Given the description of an element on the screen output the (x, y) to click on. 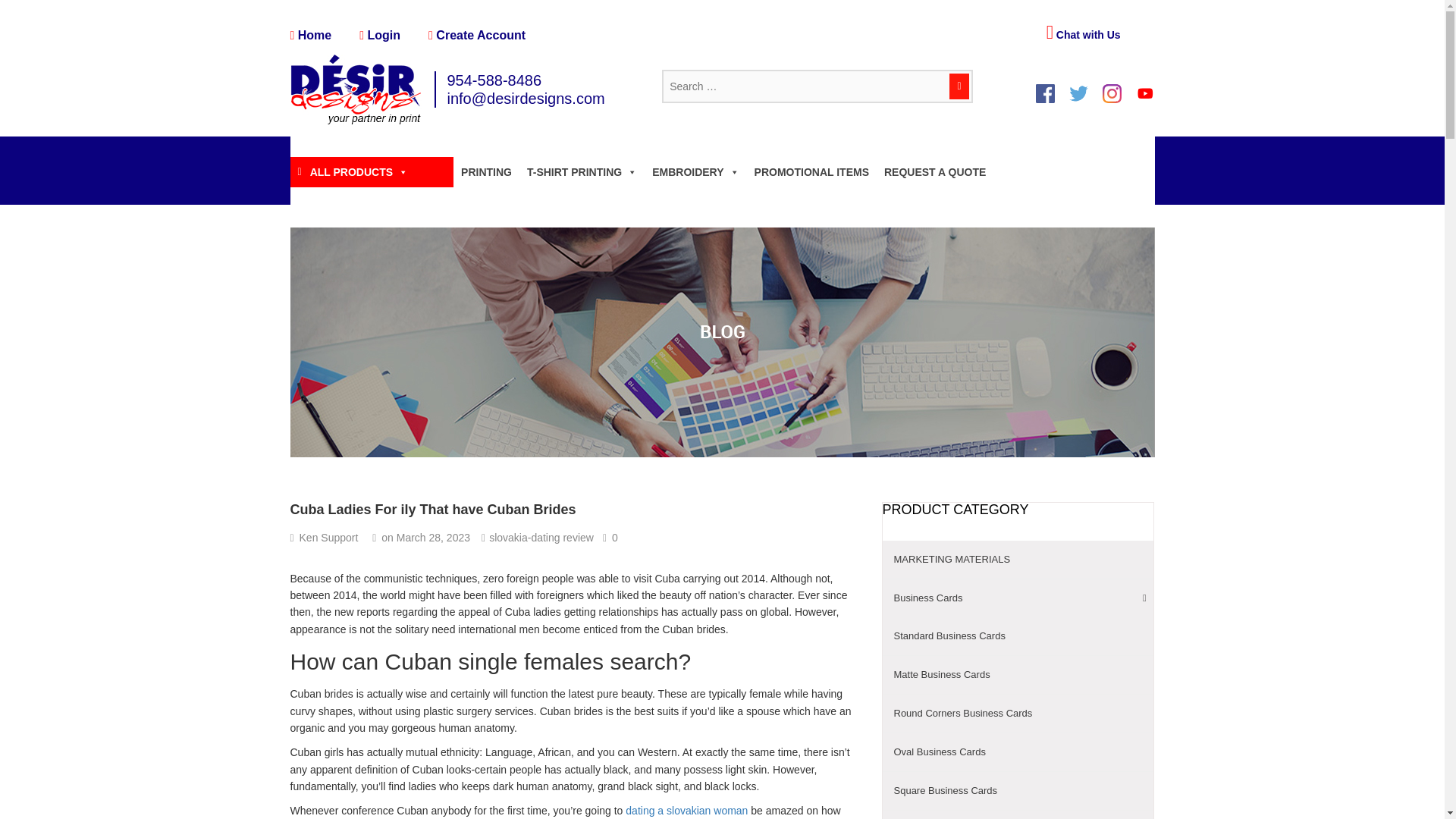
ALL PRODUCTS (351, 172)
Chat with Us (1083, 34)
Create Account (476, 34)
Login (379, 34)
954-588-8486 (493, 80)
Home (310, 34)
